Given the description of an element on the screen output the (x, y) to click on. 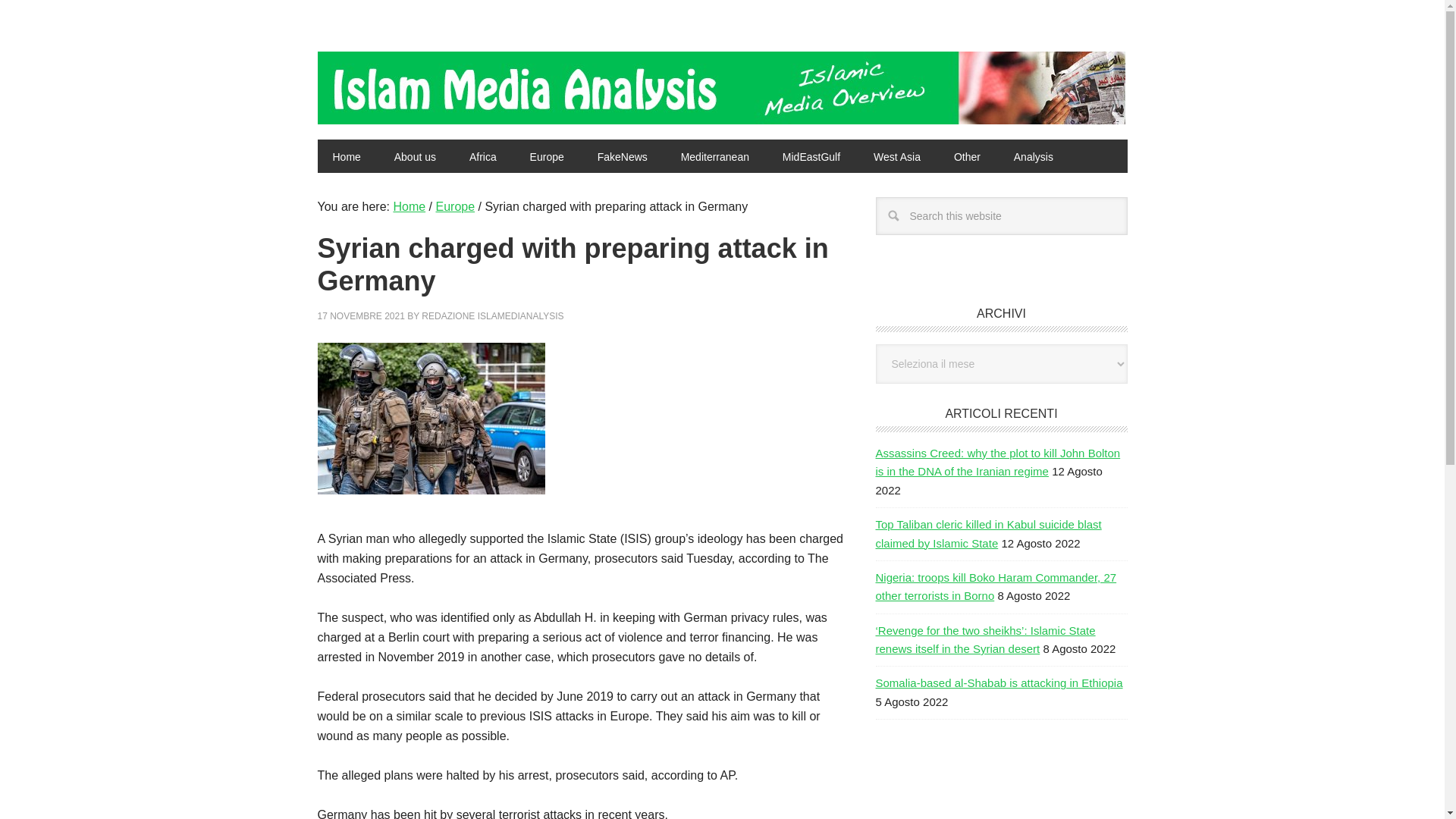
Analysis (1033, 155)
Africa (483, 155)
Home (346, 155)
Europe (547, 155)
ISLAM MEDIA ANALYSIS (419, 81)
Somalia-based al-Shabab is attacking in Ethiopia (998, 682)
